Given the description of an element on the screen output the (x, y) to click on. 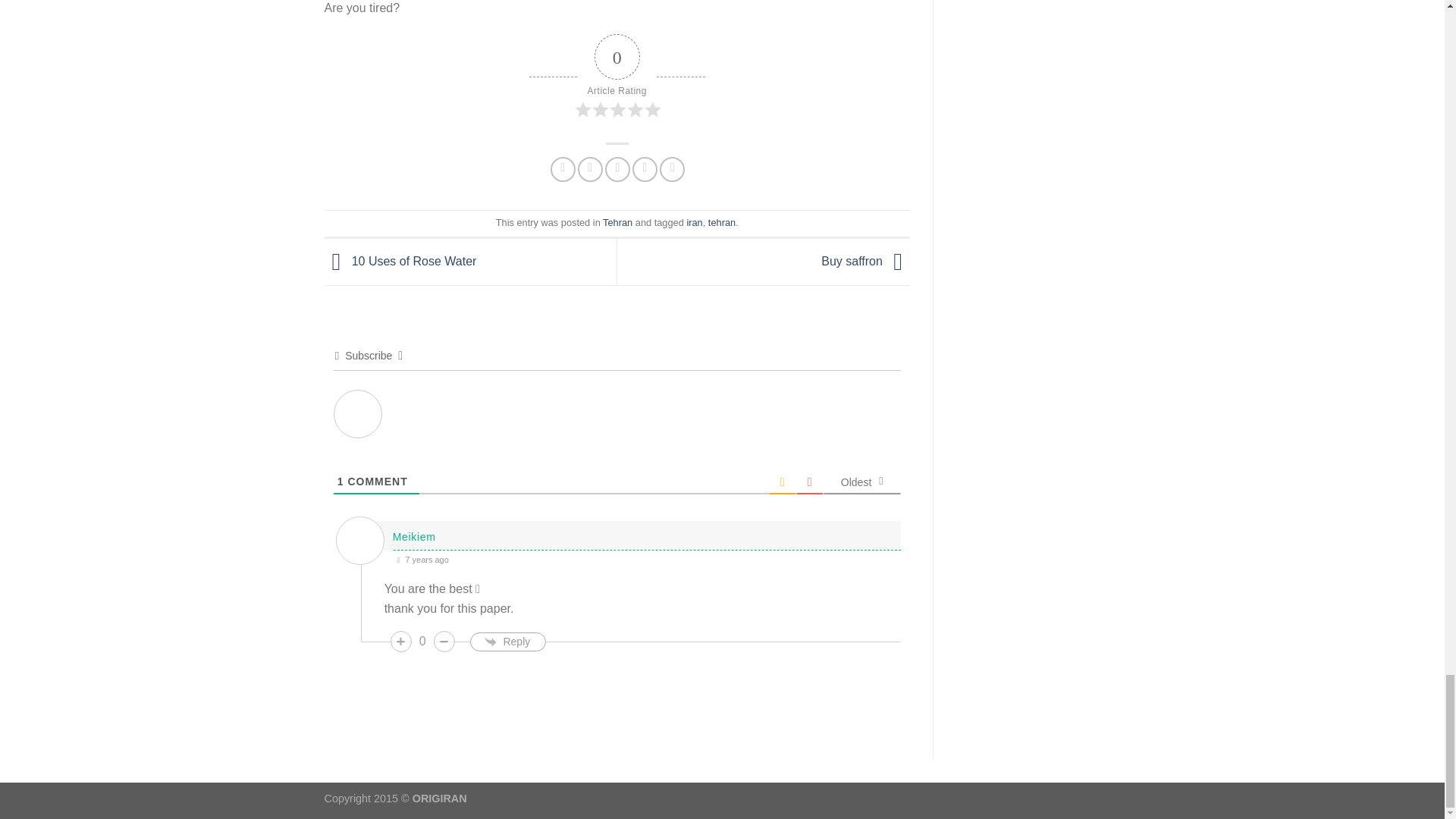
iran (693, 222)
tehran (721, 222)
Buy saffron (865, 260)
Email to a Friend (617, 169)
Share on LinkedIn (671, 169)
Share on Twitter (590, 169)
10 Uses of Rose Water (400, 260)
Share on Facebook (562, 169)
Pin on Pinterest (644, 169)
Tehran (616, 222)
